Given the description of an element on the screen output the (x, y) to click on. 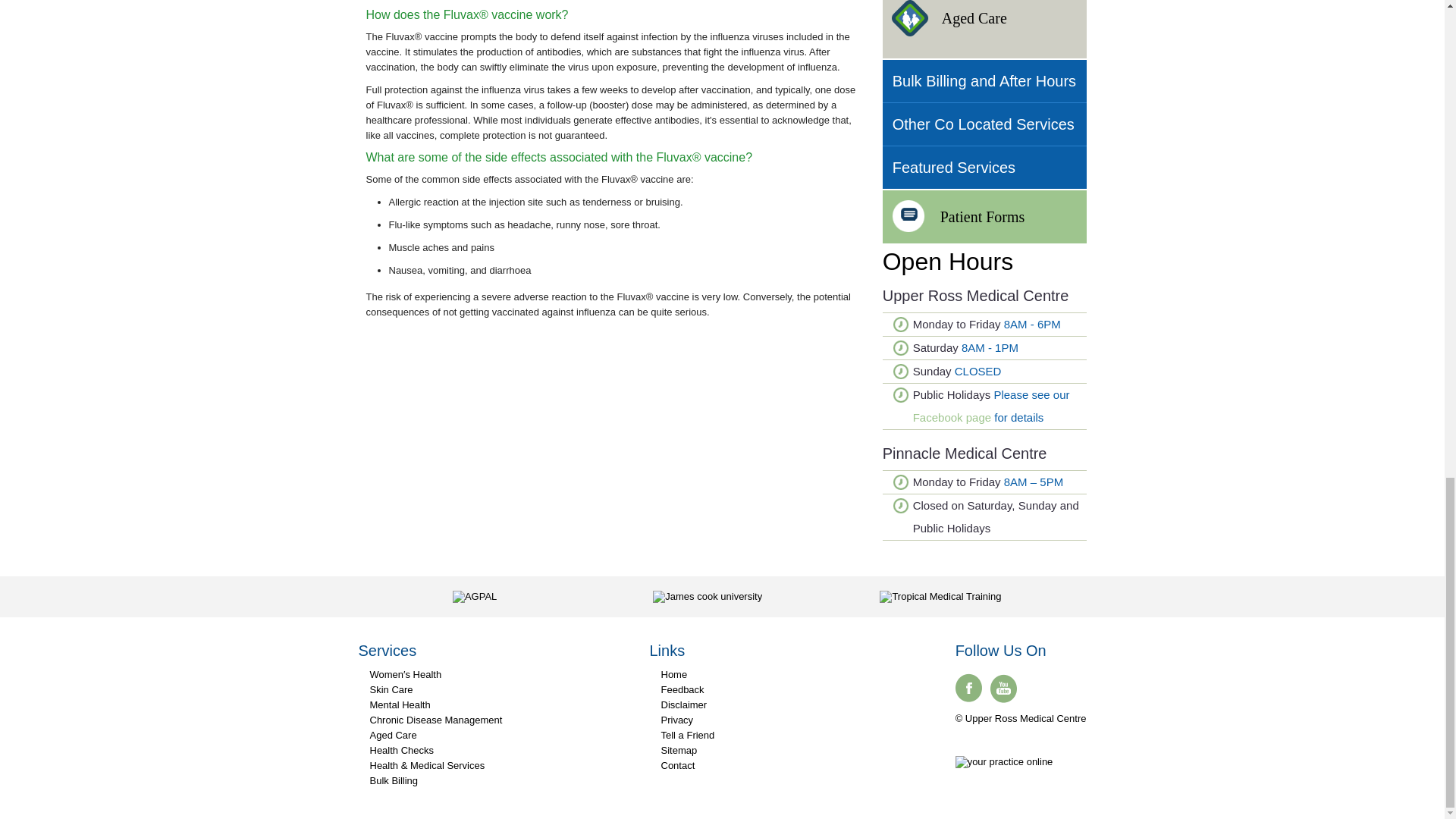
Other Co Located Services (984, 124)
Featured Services (984, 167)
Facebook page (951, 417)
Bulk Billing and After Hours (984, 80)
Aged Care (984, 19)
Open Hours (947, 261)
Services (387, 650)
Skin Care (385, 689)
Patient Forms (984, 216)
